Given the description of an element on the screen output the (x, y) to click on. 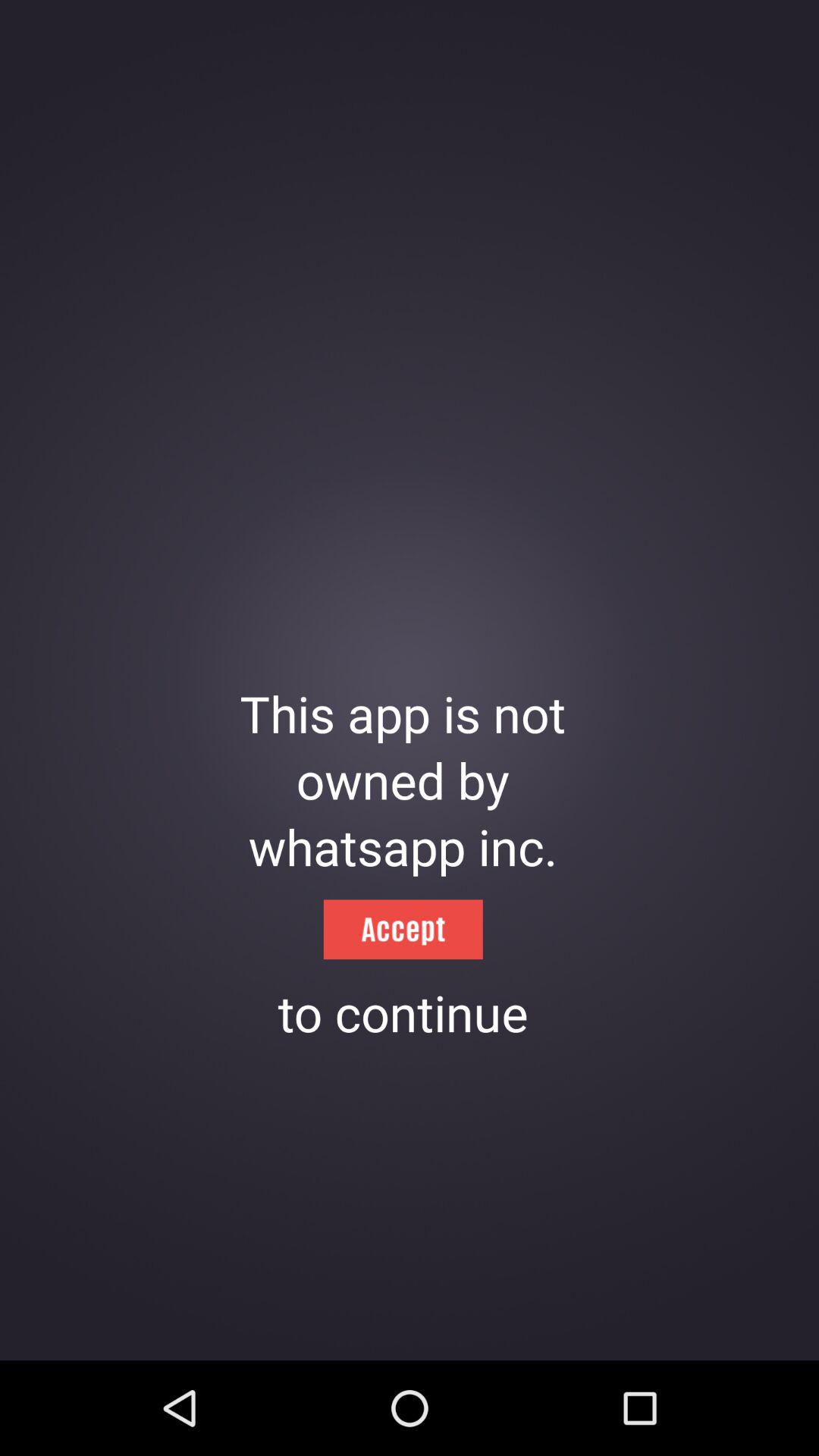
accept (402, 929)
